Given the description of an element on the screen output the (x, y) to click on. 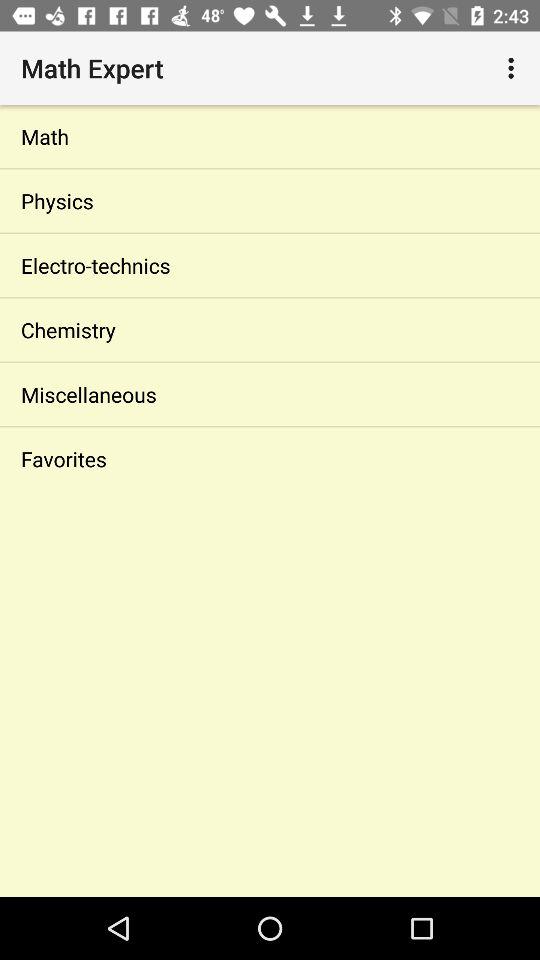
select physics (270, 200)
